Given the description of an element on the screen output the (x, y) to click on. 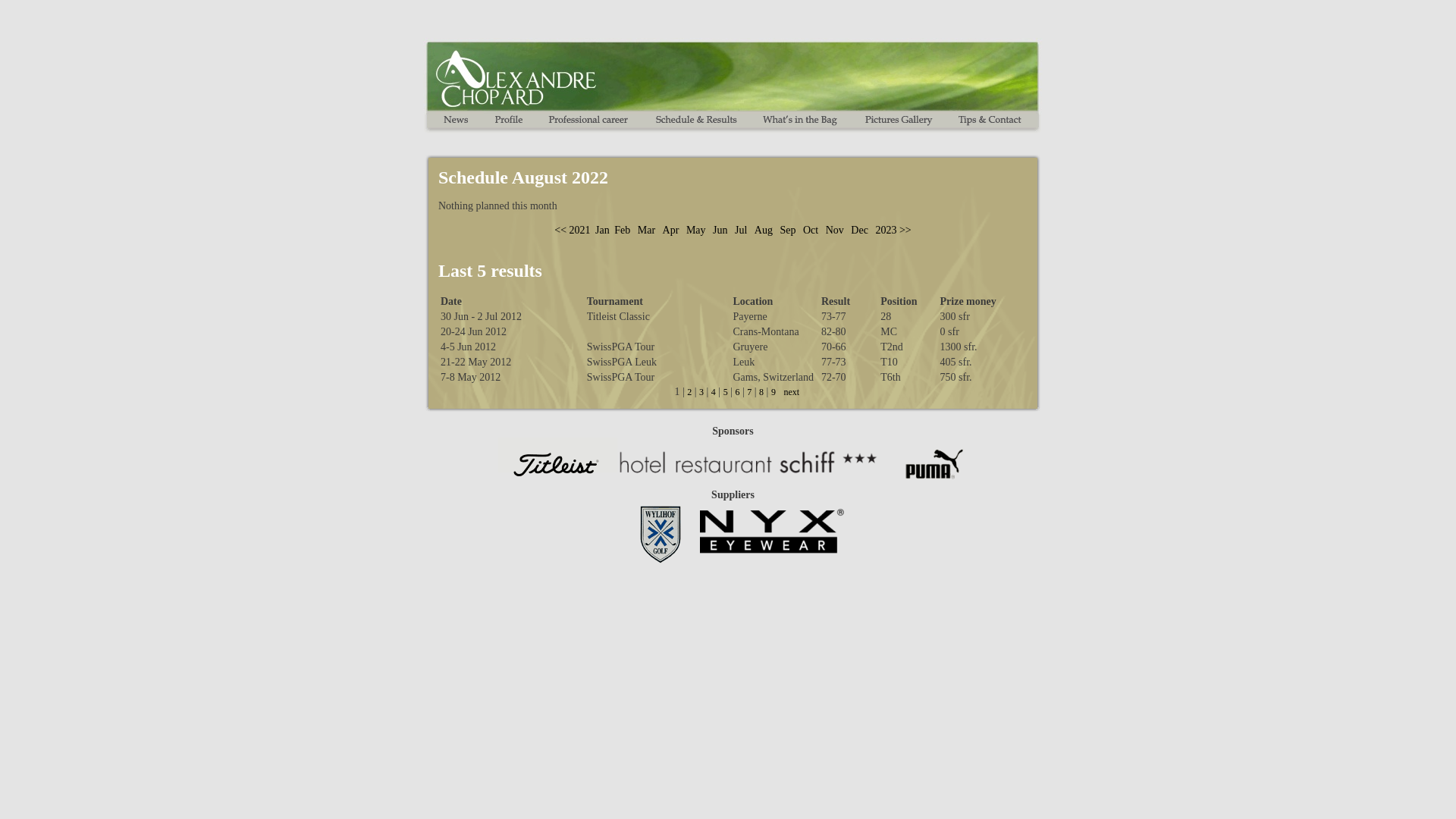
Mar Element type: text (646, 230)
2023 >> Element type: text (892, 230)
Sep Element type: text (787, 230)
May Element type: text (696, 230)
Aug Element type: text (763, 230)
3 Element type: text (701, 391)
Jul Element type: text (740, 230)
4 Element type: text (713, 391)
2 Element type: text (689, 391)
5 Element type: text (725, 391)
9 Element type: text (773, 391)
Jan Element type: text (602, 229)
next Element type: text (791, 391)
Dec Element type: text (859, 230)
Apr Element type: text (670, 230)
8 Element type: text (761, 391)
Oct Element type: text (810, 230)
7 Element type: text (748, 391)
<< 2021 Element type: text (572, 230)
Nov Element type: text (834, 230)
6 Element type: text (736, 391)
Feb Element type: text (621, 230)
Jun Element type: text (719, 230)
